Given the description of an element on the screen output the (x, y) to click on. 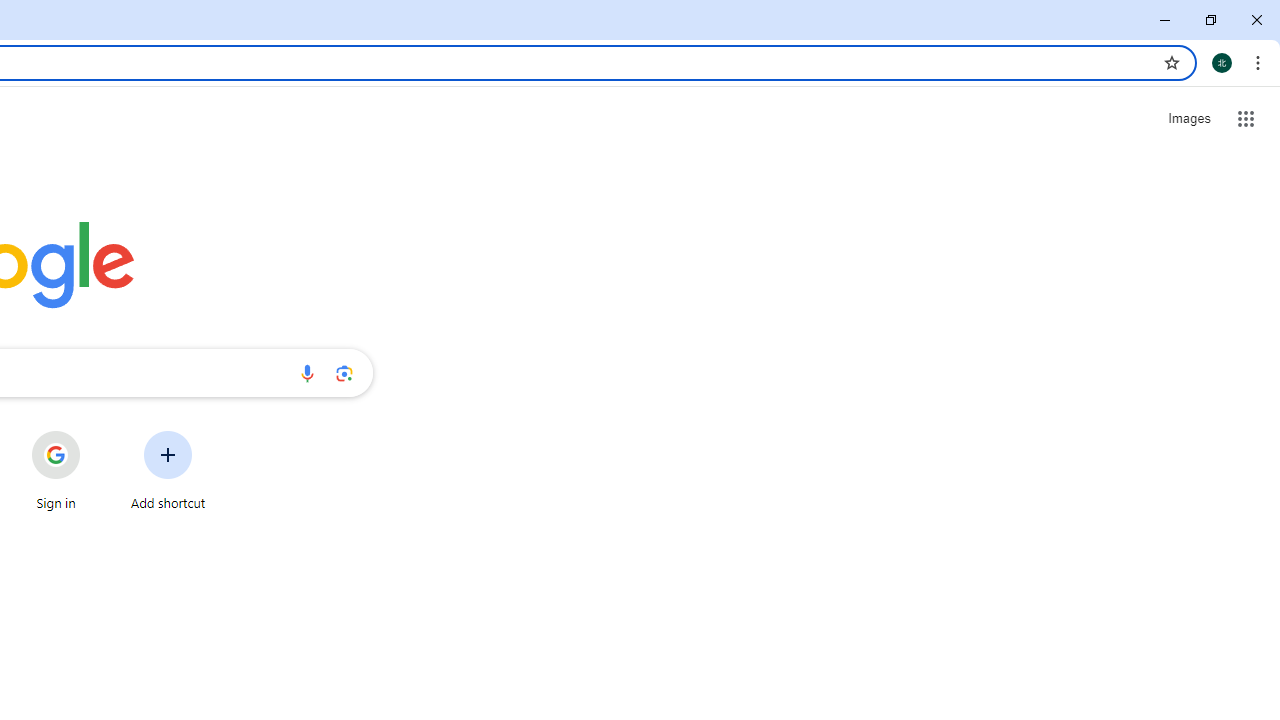
More actions for Sign in shortcut (95, 433)
